Given the description of an element on the screen output the (x, y) to click on. 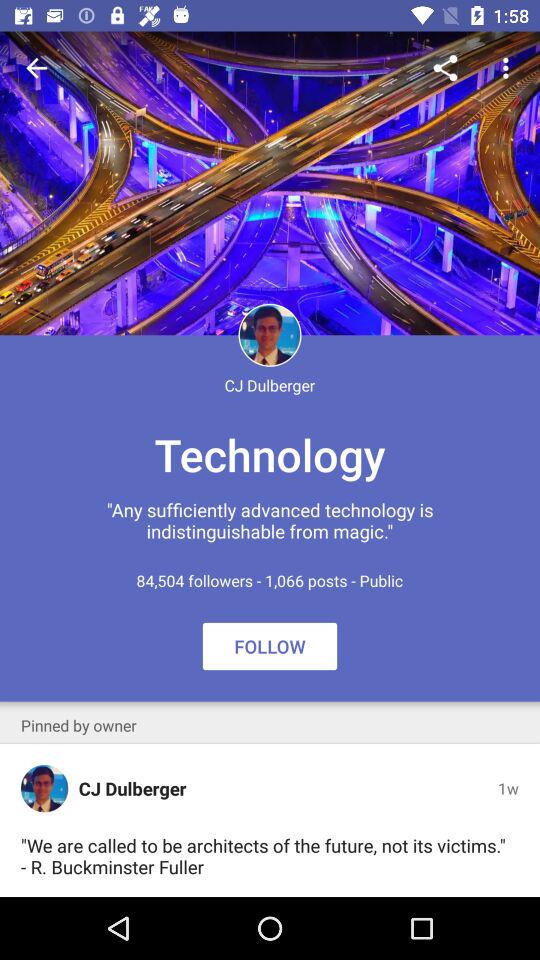
flip until follow button (269, 646)
